Given the description of an element on the screen output the (x, y) to click on. 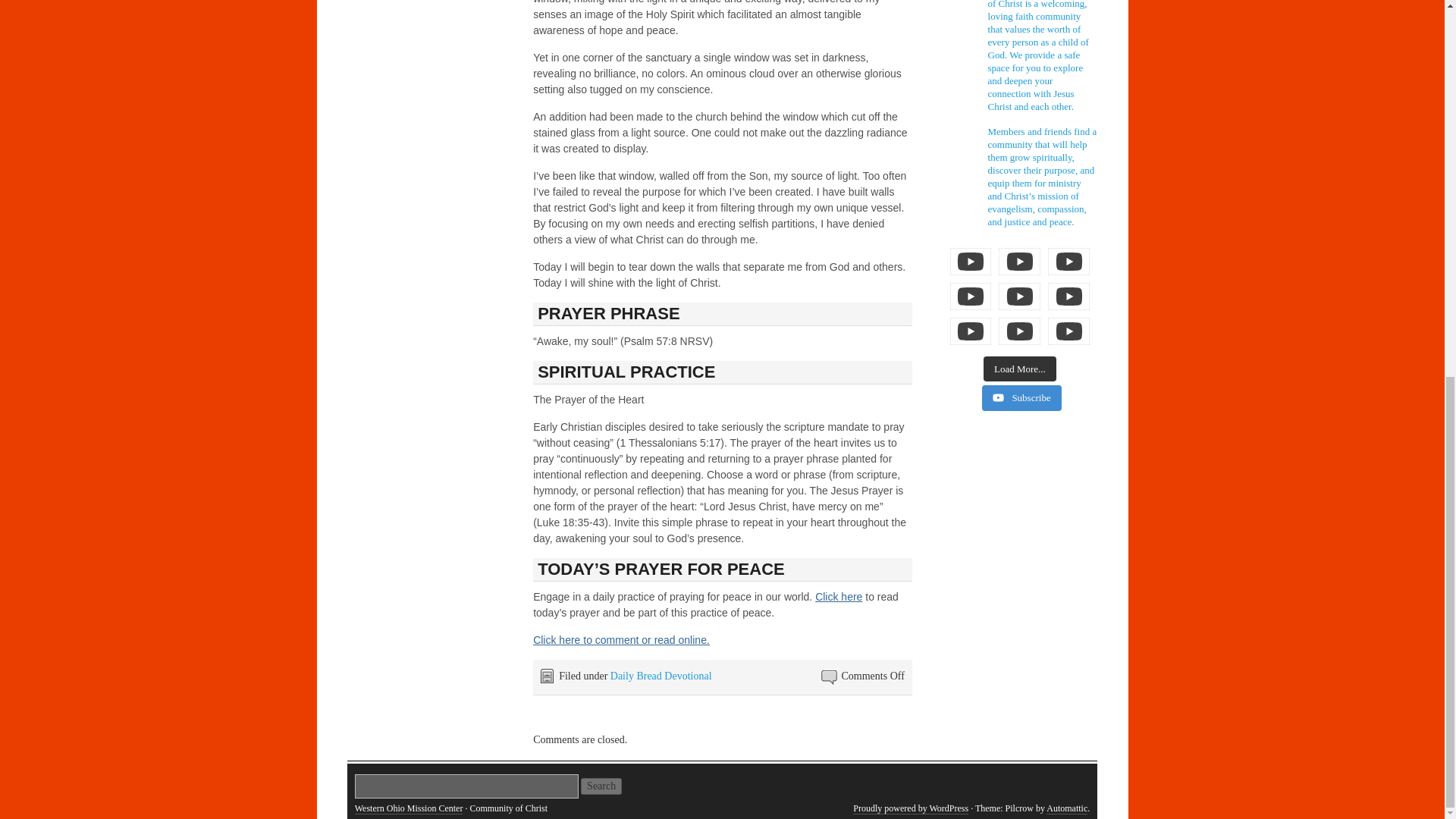
Search (600, 786)
Daily Bread Devotional (660, 675)
Click here (838, 596)
Western Ohio Mission Center (409, 808)
A Semantic Personal Publishing Platform (910, 808)
Click here to comment or read online. (621, 639)
